Given the description of an element on the screen output the (x, y) to click on. 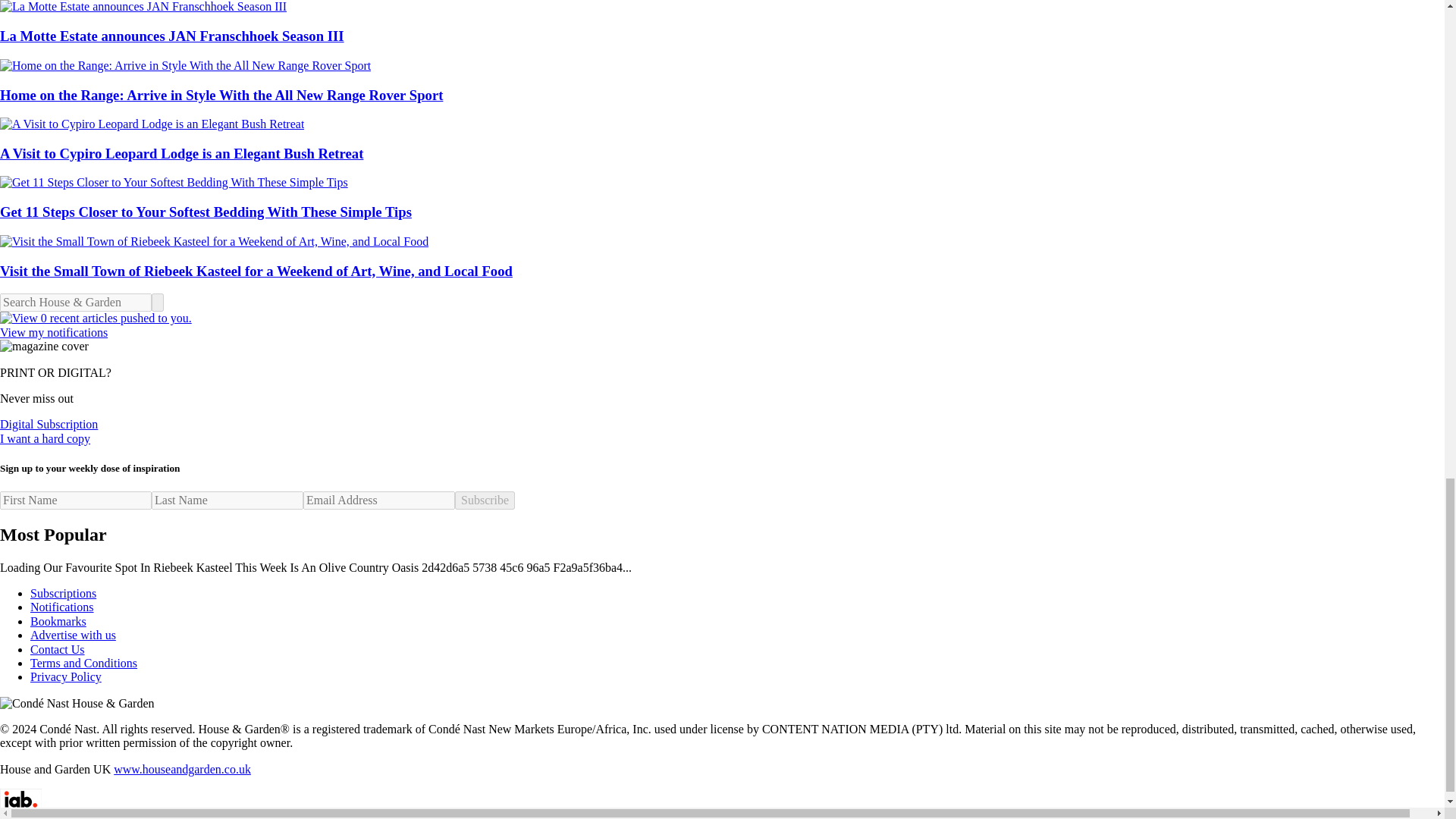
La Motte Estate announces JAN Franschhoek Season III (722, 22)
Subscriptions (63, 593)
A Visit to Cypiro Leopard Lodge is an Elegant Bush Retreat (722, 139)
Digital Subscription (48, 423)
Subscribe (484, 500)
View my notifications (722, 325)
I want a hard copy (45, 438)
